Given the description of an element on the screen output the (x, y) to click on. 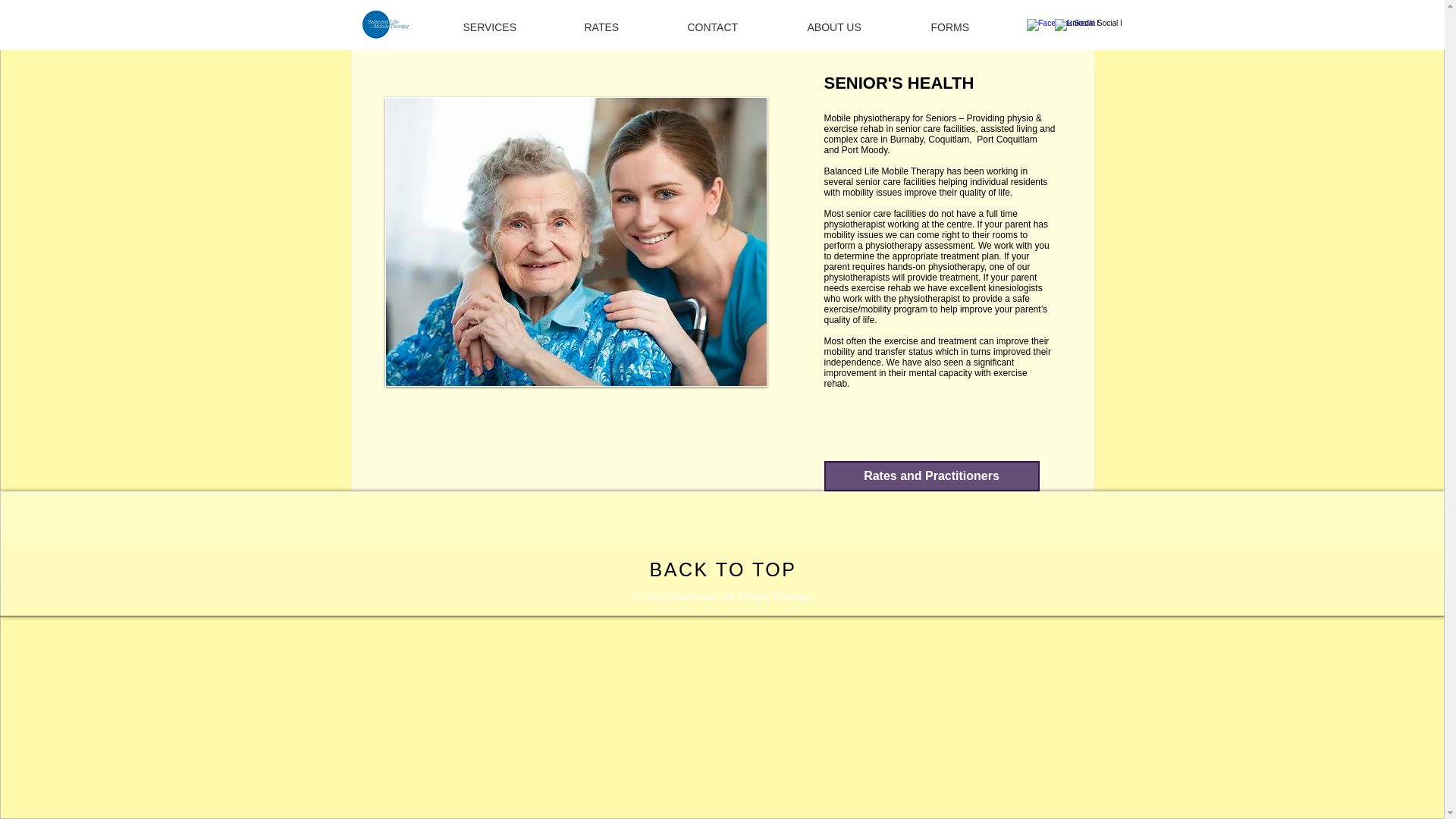
Rates and Practitioners (931, 476)
ABOUT US (858, 26)
BACK TO TOP (722, 568)
SERVICES (512, 26)
CONTACT (736, 26)
RATES (625, 26)
HOME (401, 26)
Old and Young (576, 241)
